Given the description of an element on the screen output the (x, y) to click on. 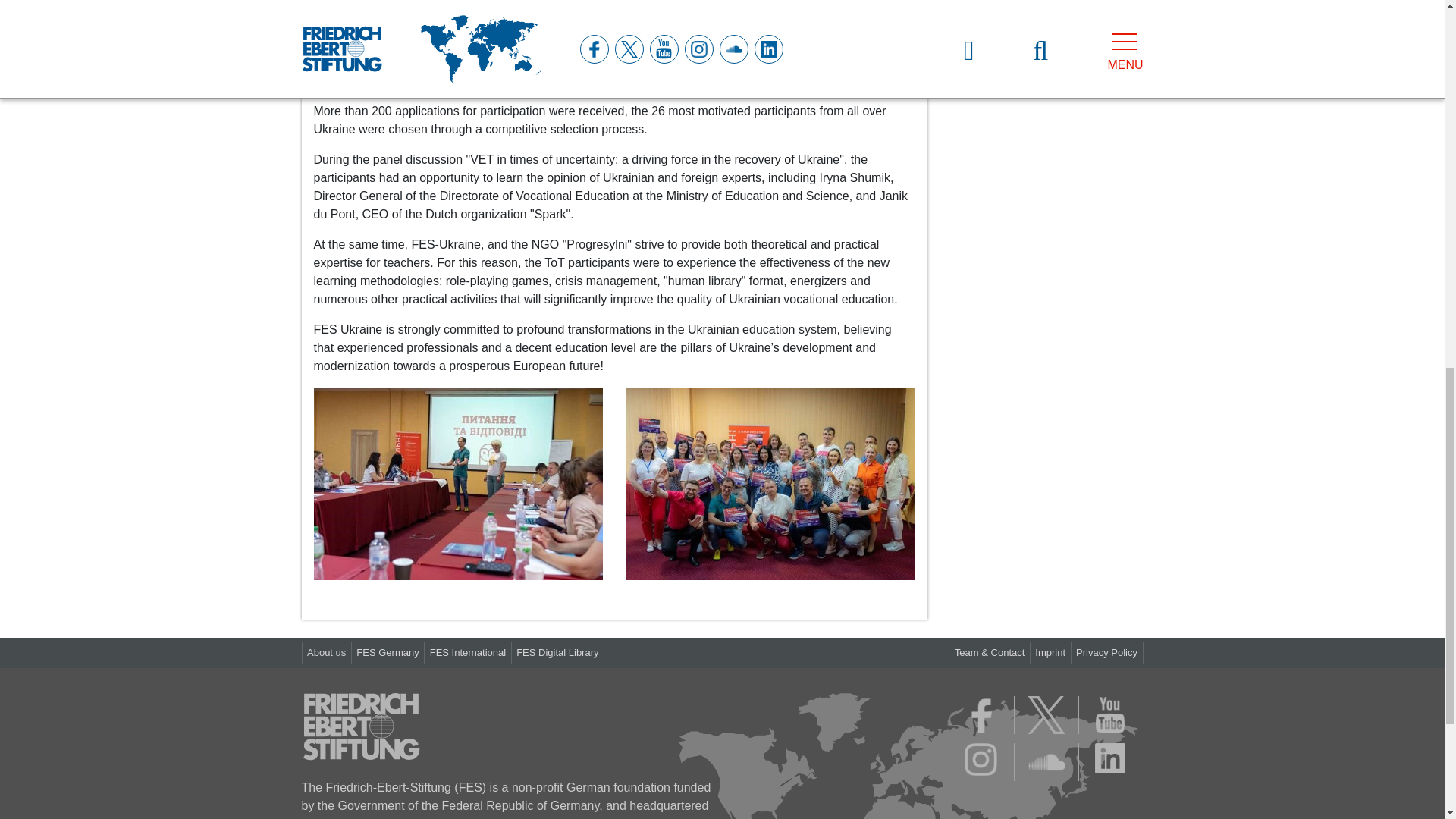
ToT Proftech (770, 481)
ToT Proftech (459, 483)
ToT Proftech (770, 483)
ToT Proftech (459, 482)
